Given the description of an element on the screen output the (x, y) to click on. 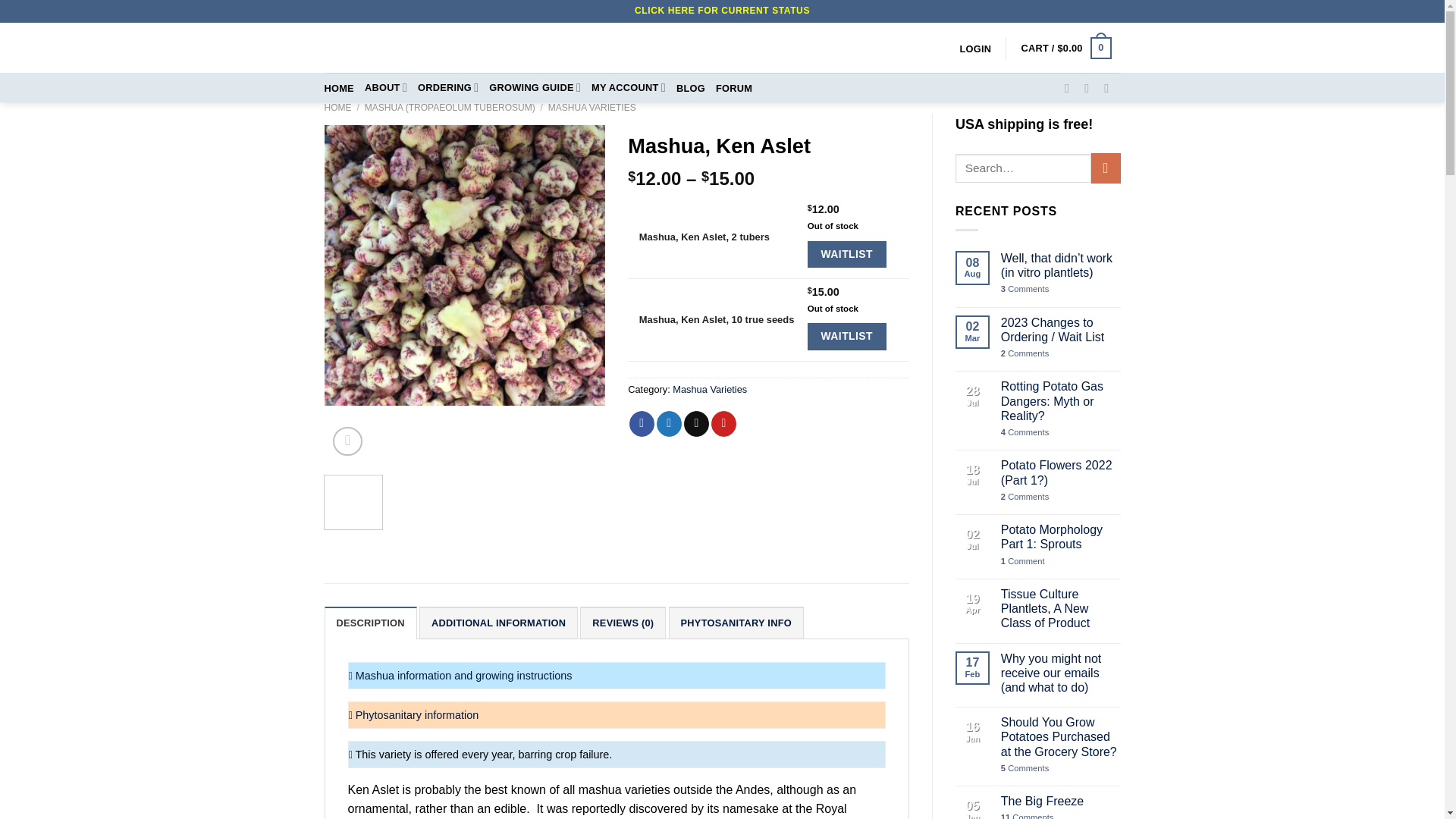
The Big Freeze (1061, 800)
Should You Grow Potatoes Purchased at the Grocery Store? (1061, 736)
Tissue Culture Plantlets, A New Class of Product (1061, 608)
ABOUT (386, 87)
LOGIN (975, 48)
Mashua 'Ken Aslet' tubers (464, 265)
Rotting Potato Gas Dangers: Myth or Reality? (1061, 401)
CLICK HERE FOR CURRENT STATUS (721, 9)
ORDERING (448, 87)
Send us an email (1109, 88)
